Given the description of an element on the screen output the (x, y) to click on. 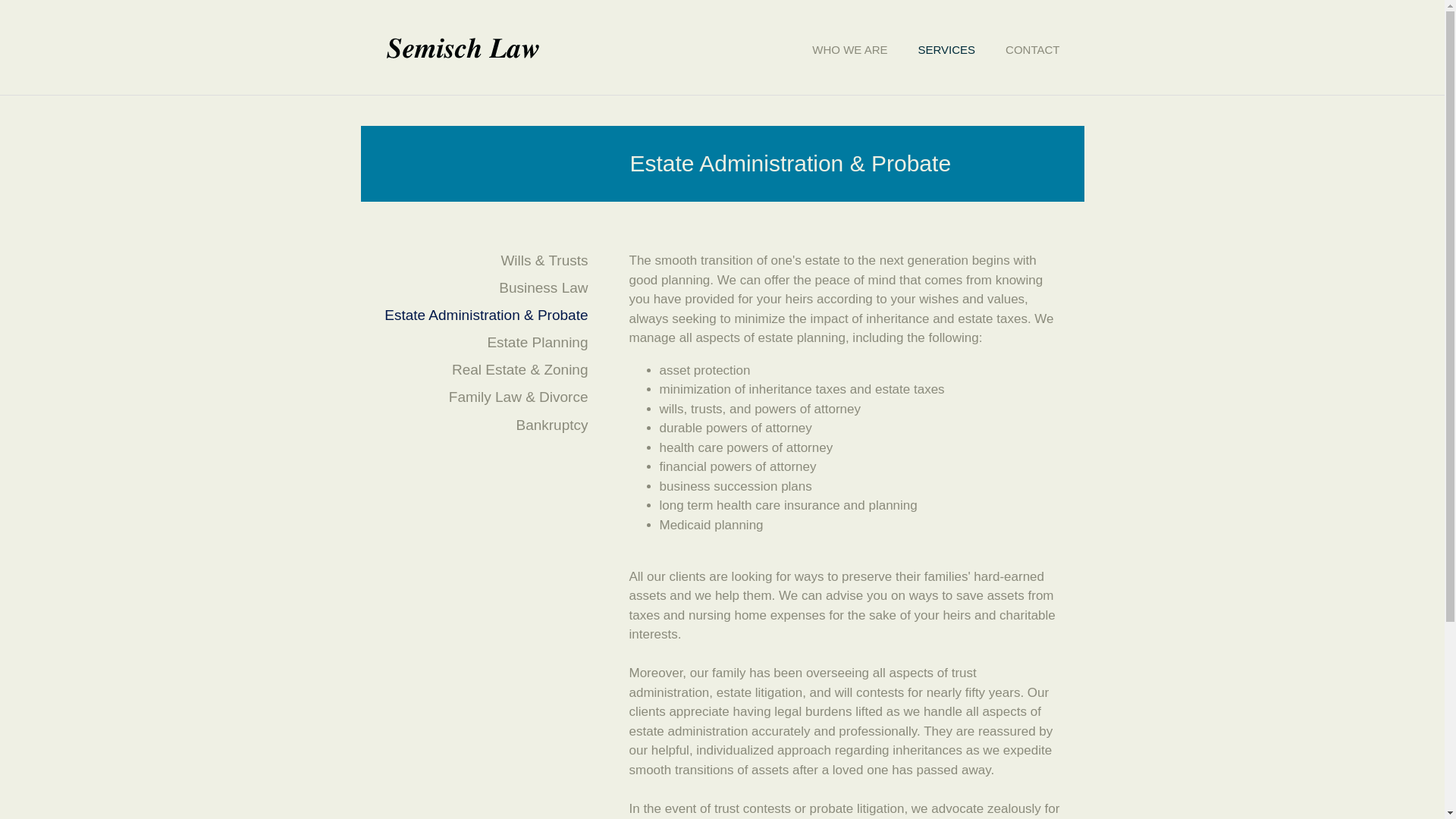
Business Law (543, 287)
Bankruptcy (551, 424)
Estate Planning (537, 342)
